Given the description of an element on the screen output the (x, y) to click on. 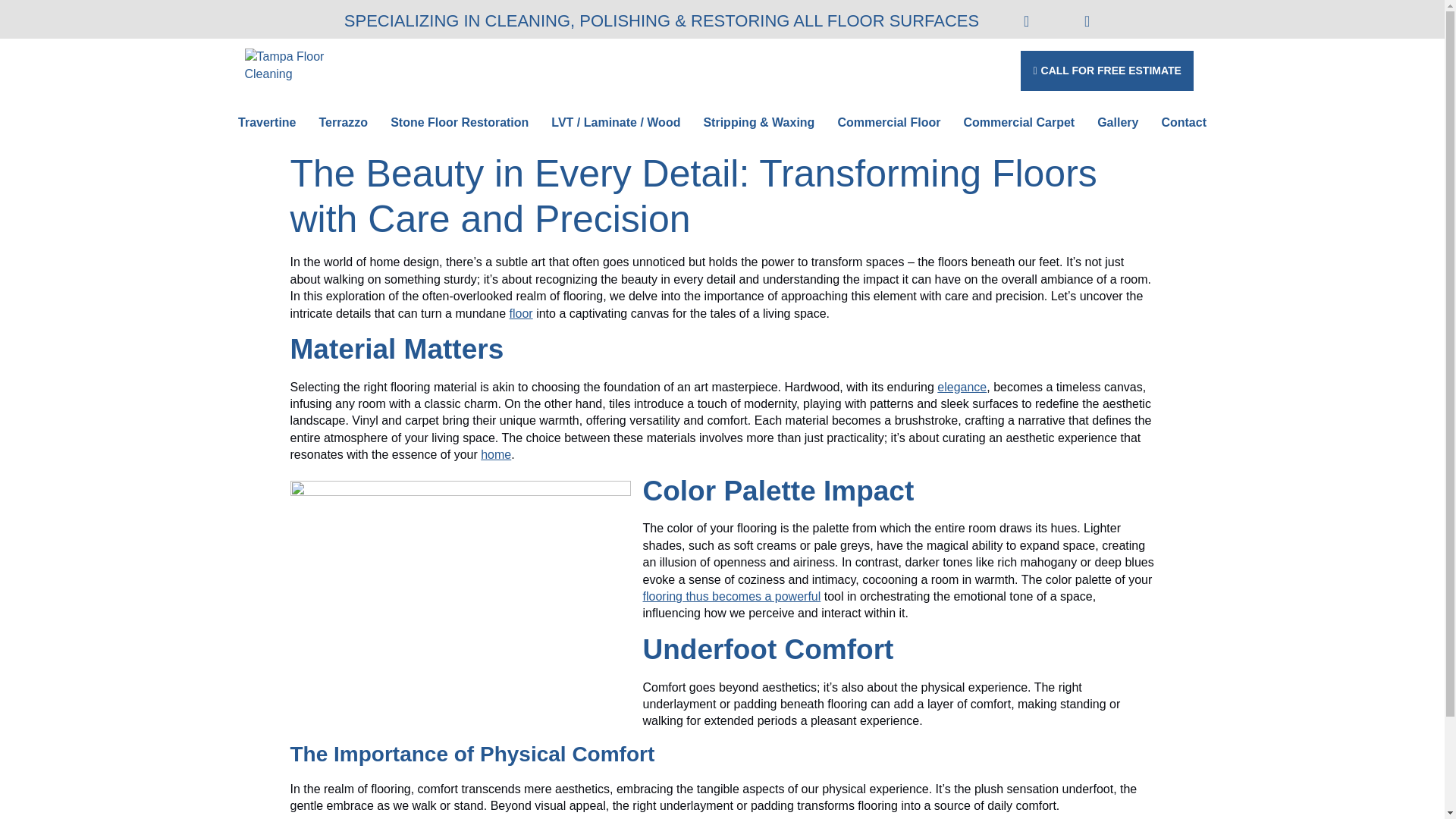
Commercial Floor (888, 122)
Commercial Carpet (1019, 122)
CALL FOR FREE ESTIMATE (1079, 70)
Terrazzo (343, 122)
Gallery (1118, 122)
Contact (1183, 122)
CALL FOR FREE ESTIMATE (1106, 70)
Stone Floor Restoration (459, 122)
Travertine (267, 122)
